Given the description of an element on the screen output the (x, y) to click on. 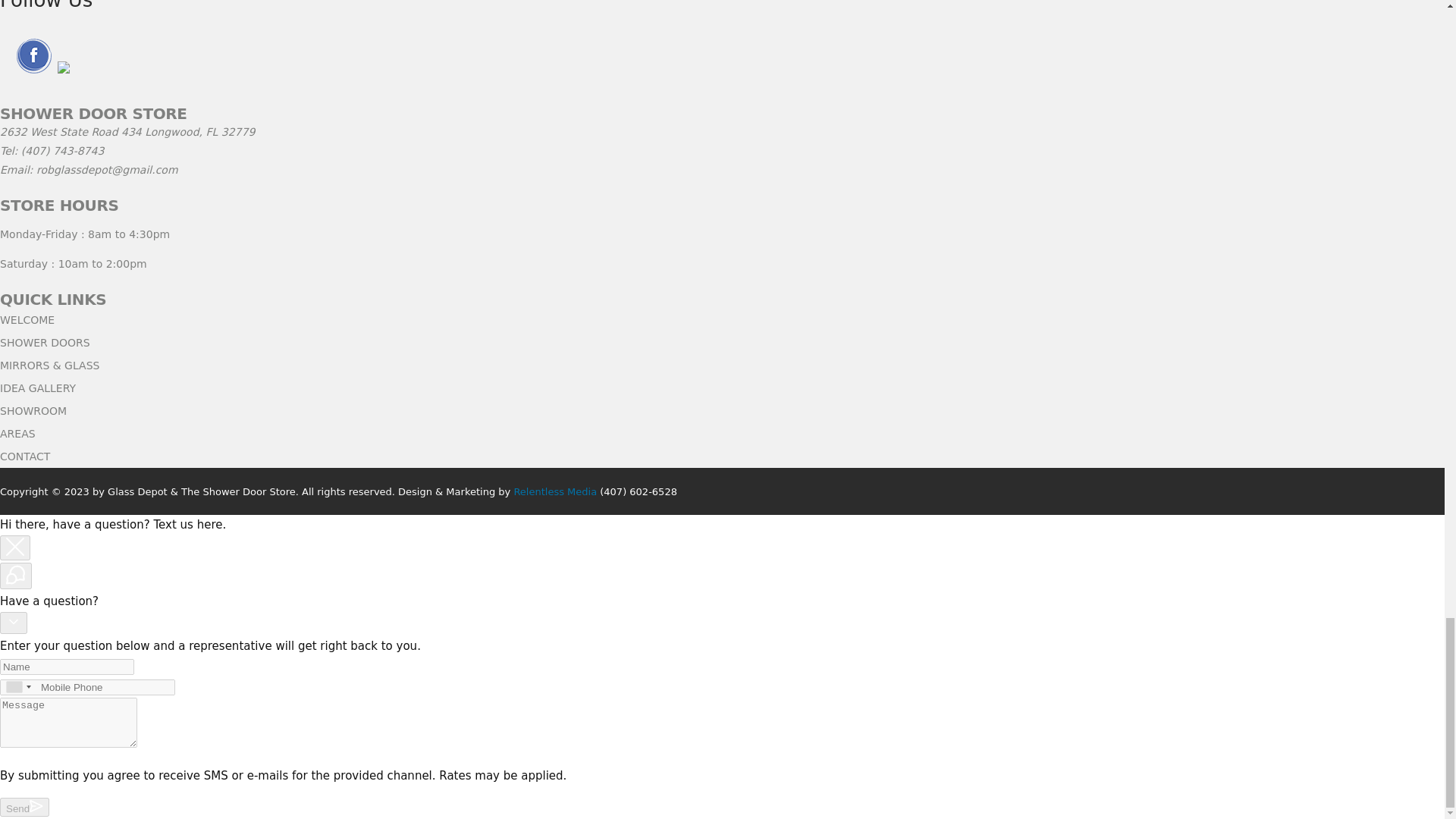
WELCOME (27, 319)
AREAS (17, 433)
IDEA GALLERY (37, 387)
SHOWER DOORS (45, 342)
CONTACT (24, 456)
Relentless Media (554, 491)
SHOWROOM (33, 410)
